Given the description of an element on the screen output the (x, y) to click on. 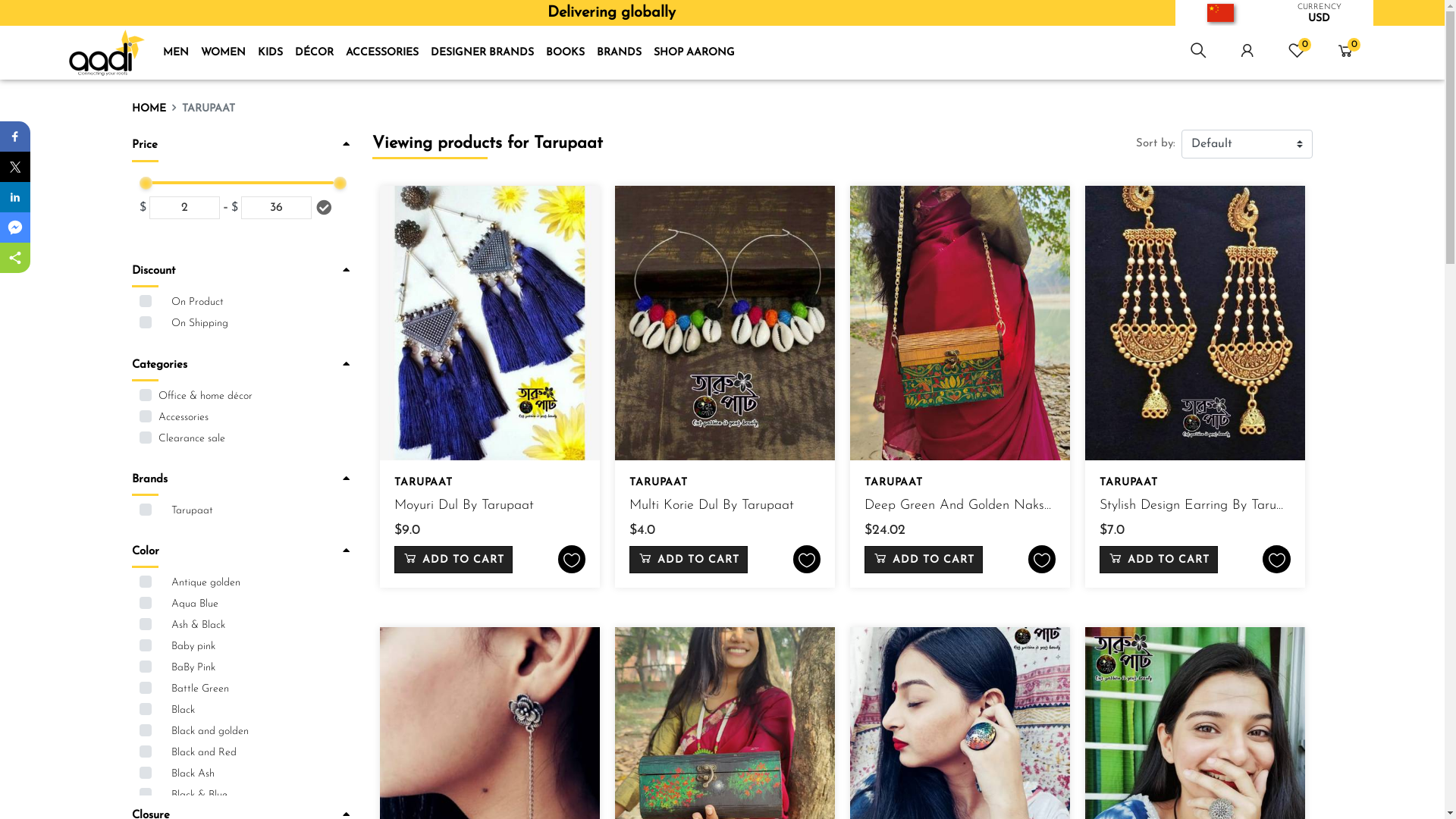
TARUPAAT Element type: text (489, 482)
Add to wishlist Element type: hover (572, 559)
ADD TO CART Element type: text (688, 559)
TARUPAAT Element type: text (1194, 482)
China Element type: hover (1220, 12)
ADD TO CART Element type: text (923, 559)
TARUPAAT Element type: text (724, 482)
WOMEN Element type: text (222, 52)
Add to wishlist Element type: hover (807, 559)
0 Element type: text (1296, 49)
TARUPAAT Element type: text (959, 482)
Add to wishlist Element type: hover (1276, 559)
BRANDS Element type: text (618, 52)
ADD TO CART Element type: text (453, 559)
HOME Element type: text (148, 108)
DESIGNER BRANDS Element type: text (481, 52)
Stylish Design Earring By Tarupaat Element type: text (1194, 505)
filter Element type: hover (323, 210)
0 Element type: text (1345, 49)
BOOKS Element type: text (564, 52)
ADD TO CART Element type: text (1158, 559)
MEN Element type: text (175, 52)
Add to wishlist Element type: hover (1042, 559)
ACCESSORIES Element type: text (381, 52)
Moyuri Dul By Tarupaat Element type: text (489, 505)
KIDS Element type: text (269, 52)
Deep Green And Golden Naksha Painted Clutch By Tarupaat Element type: text (959, 505)
Multi Korie Dul By Tarupaat Element type: text (724, 505)
SHOP AARONG Element type: text (693, 52)
